Given the description of an element on the screen output the (x, y) to click on. 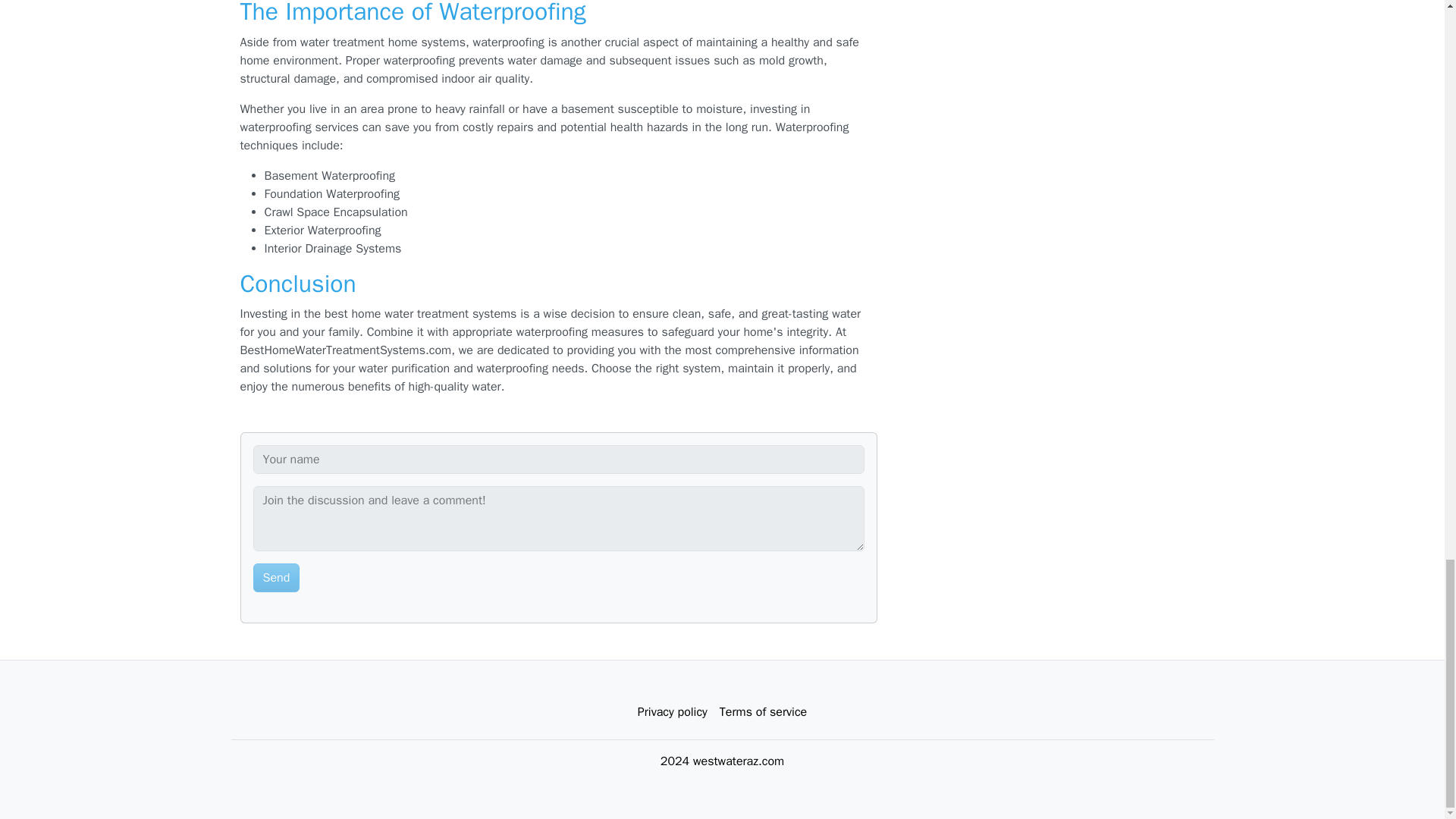
Terms of service (762, 711)
Privacy policy (672, 711)
Send (276, 577)
Send (276, 577)
